Given the description of an element on the screen output the (x, y) to click on. 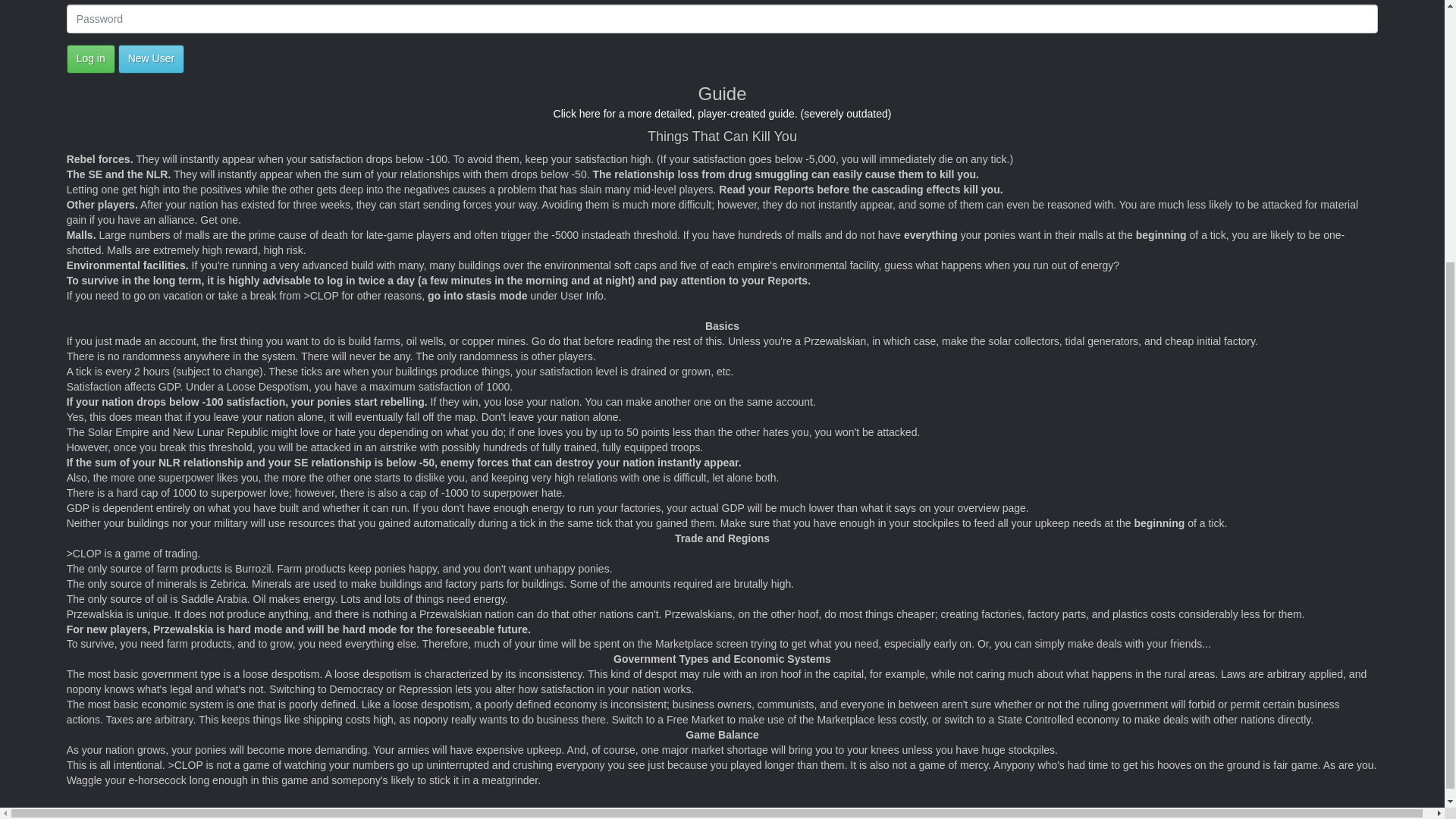
Log in (90, 59)
Log in (90, 59)
New User (150, 59)
